Given the description of an element on the screen output the (x, y) to click on. 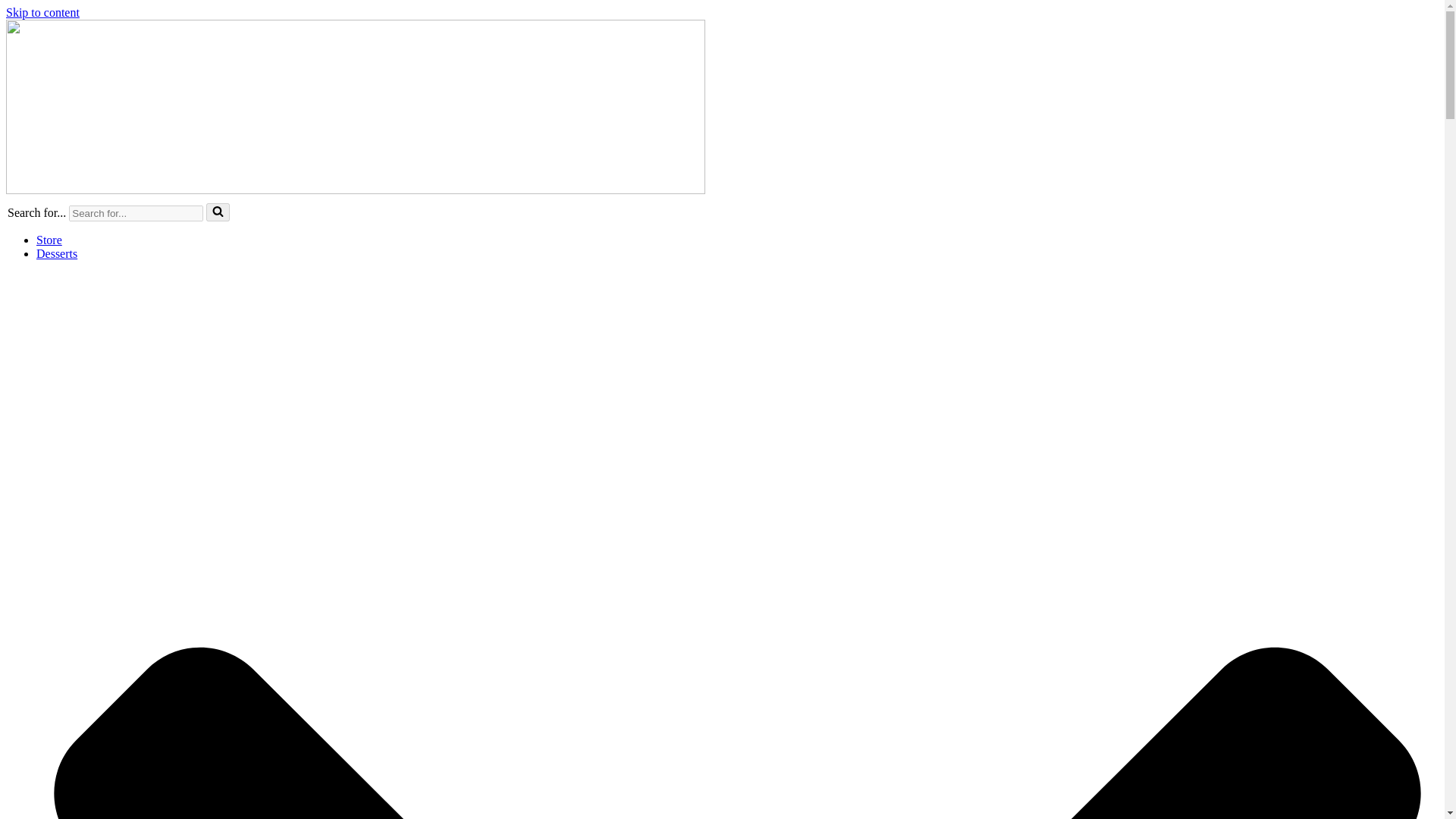
Store (49, 239)
Skip to content (42, 11)
